Given the description of an element on the screen output the (x, y) to click on. 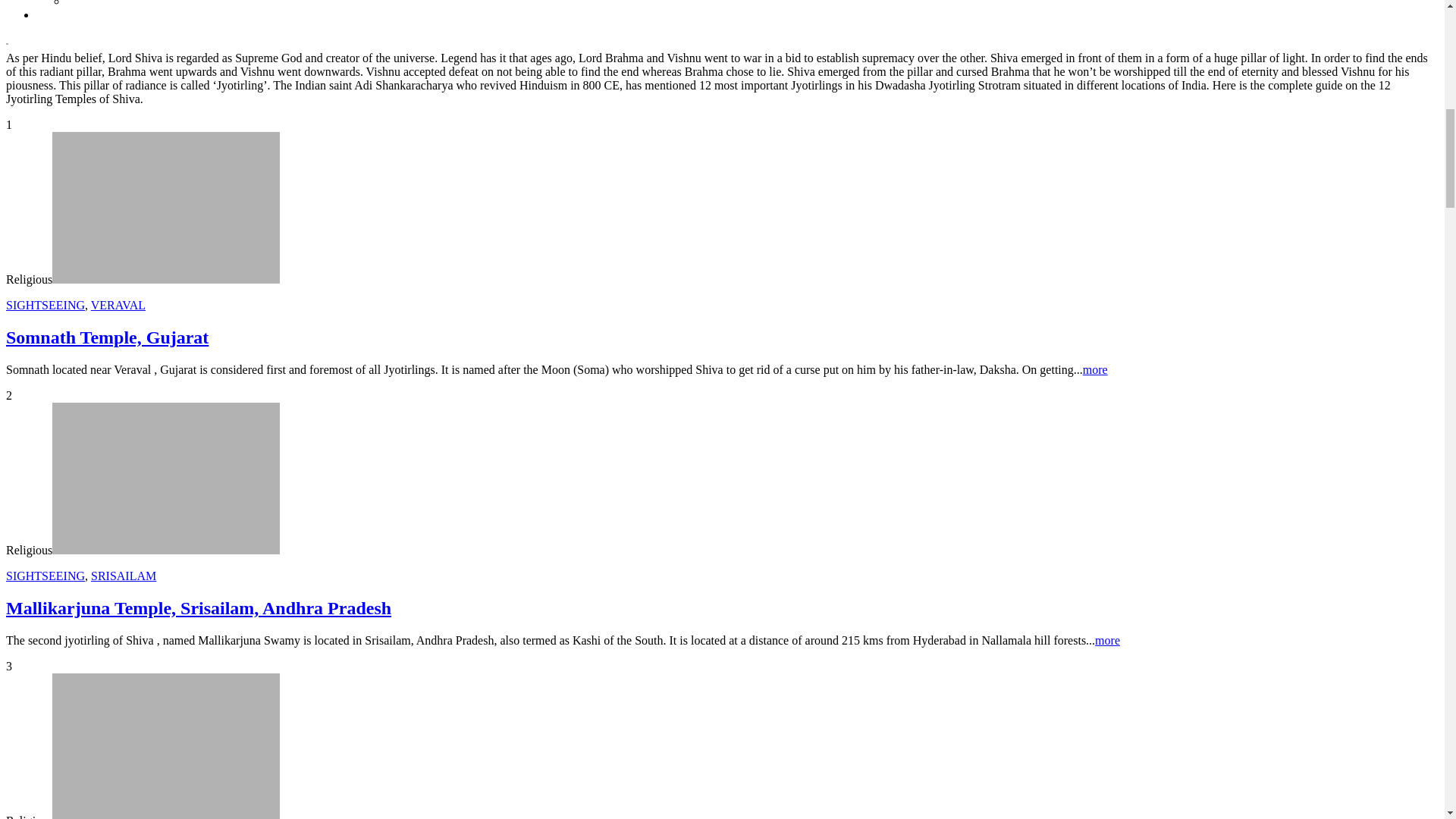
Mallikarjuna Temple, Srisailam, Andhra Pradesh (165, 478)
Somnath Temple, Gujarat (165, 207)
Mahakaleshwar Jyotirling (165, 746)
